Given the description of an element on the screen output the (x, y) to click on. 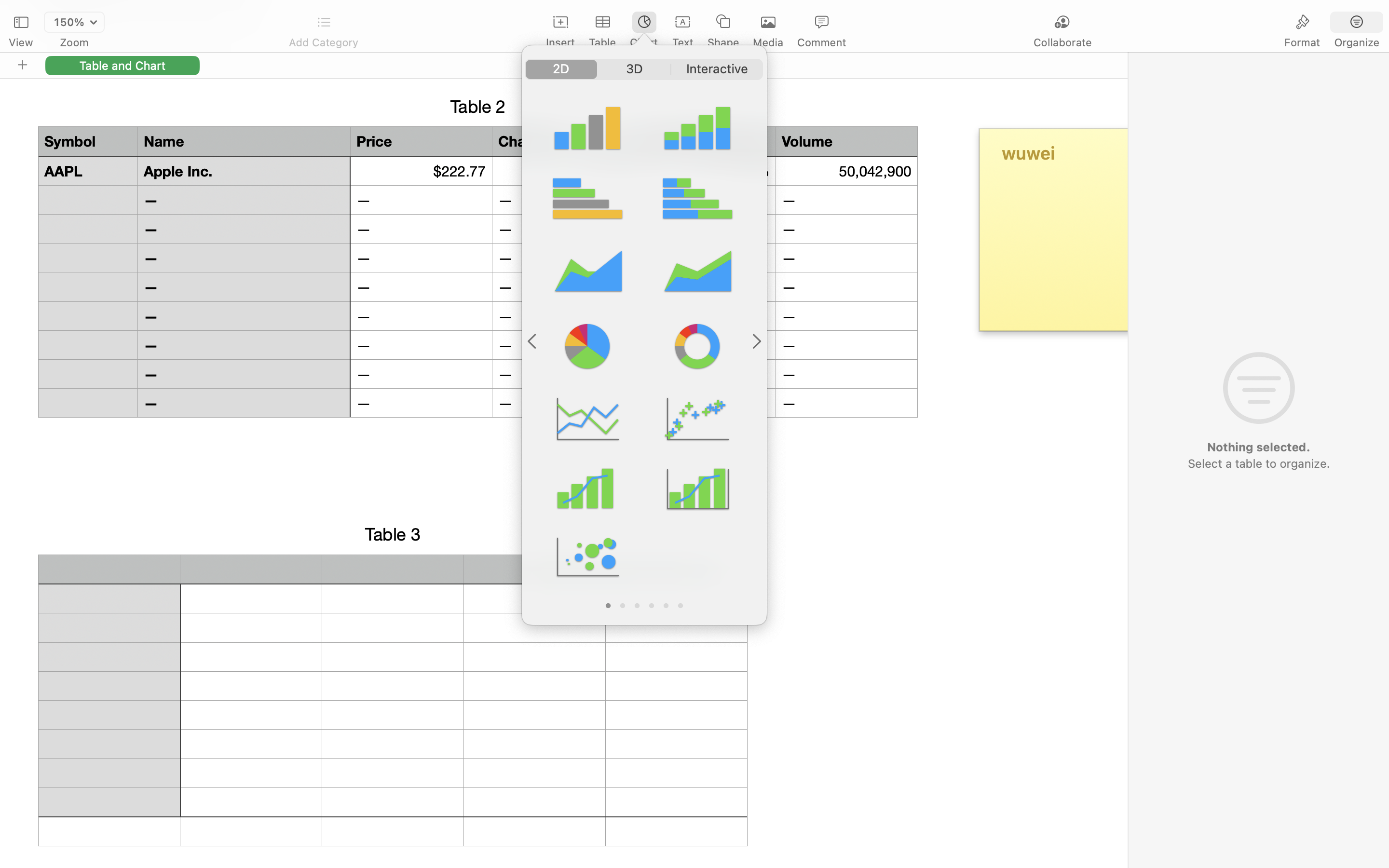
Nothing selected. Element type: AXStaticText (1257, 446)
